Given the description of an element on the screen output the (x, y) to click on. 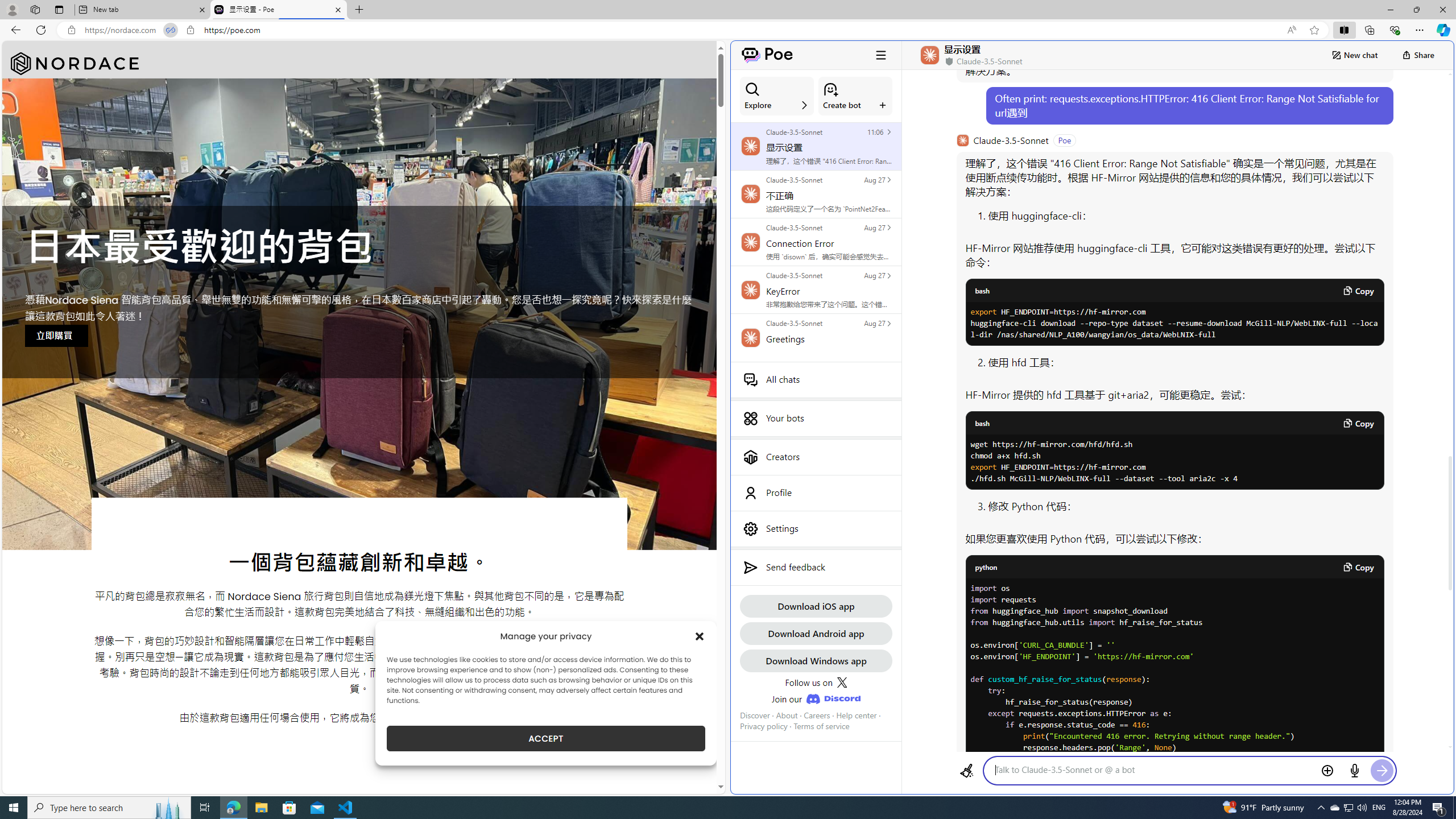
Class: ChatHistoryListItem_chevronIcon__zJZSN (888, 322)
Profile (815, 493)
Download Android app (815, 633)
Join our (815, 698)
Class: ManageBotsCardSection_createBotIcon__9JUYg (830, 89)
Creators (815, 456)
About (786, 714)
